Given the description of an element on the screen output the (x, y) to click on. 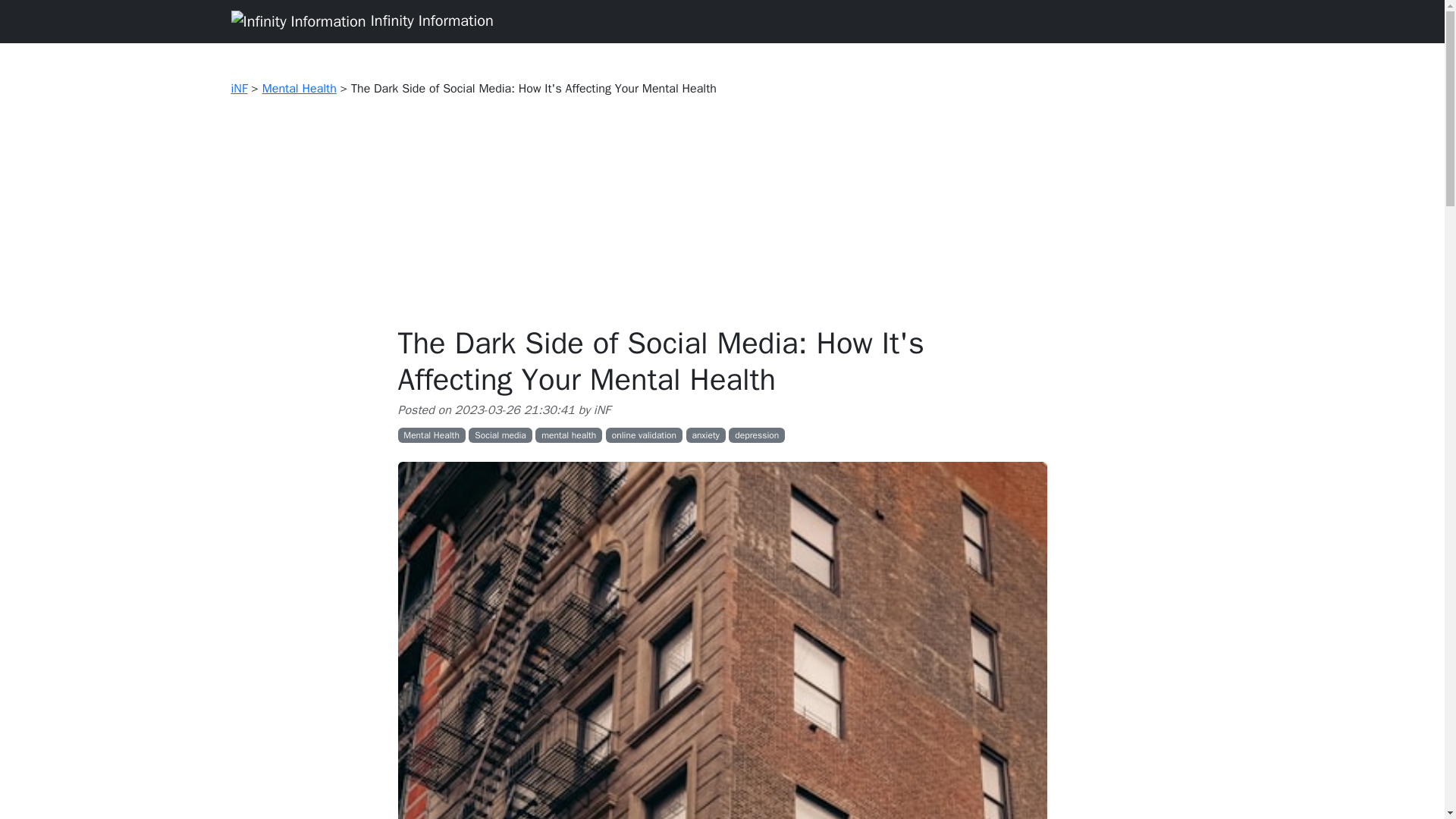
online validation (643, 435)
depression (756, 435)
anxiety (705, 435)
Mental Health (299, 88)
mental health (568, 435)
iNF (238, 88)
Infinity Information (361, 20)
Social media (499, 435)
Mental Health (430, 435)
